Given the description of an element on the screen output the (x, y) to click on. 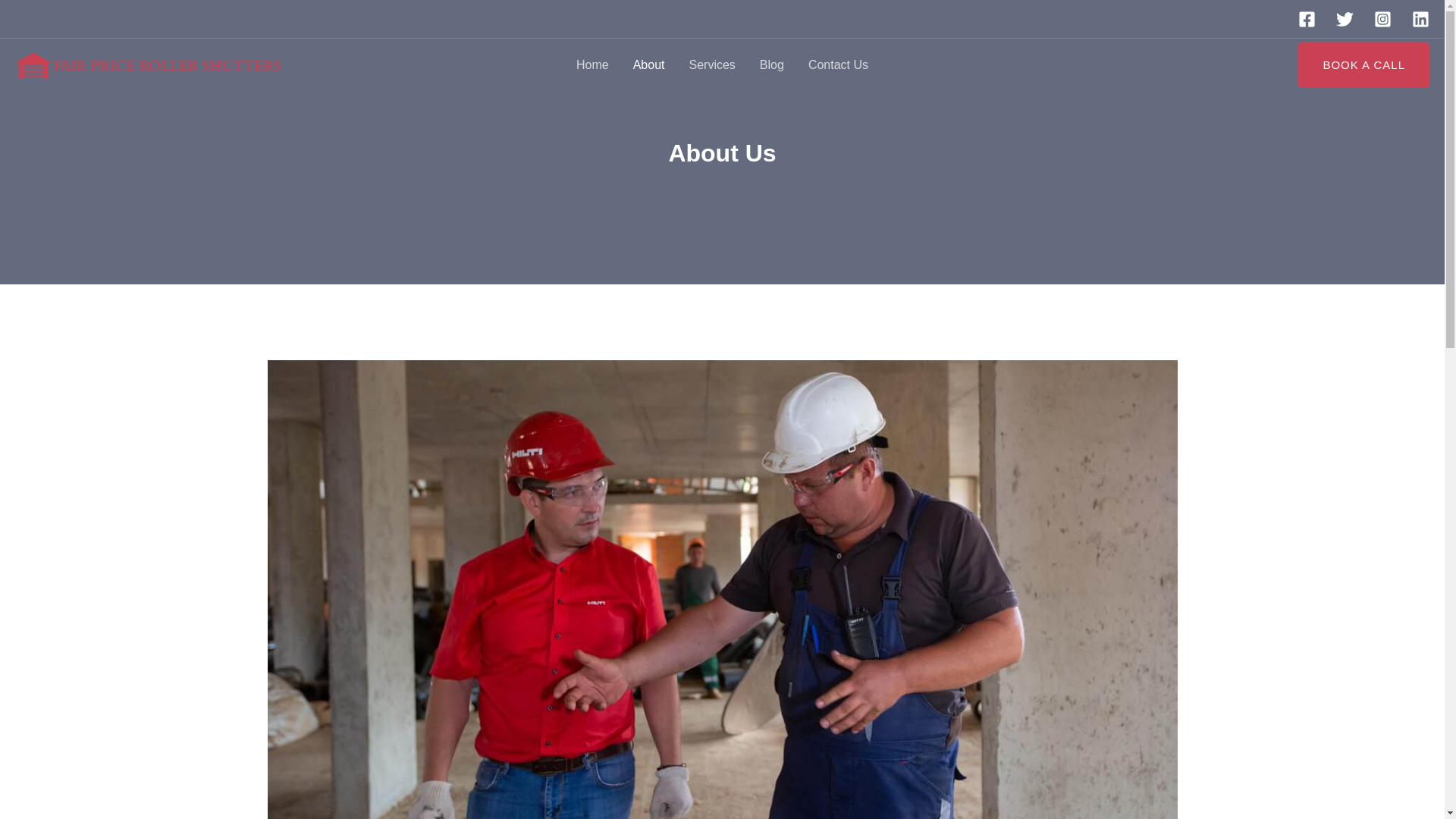
BOOK A CALL (1363, 64)
Blog (772, 64)
Home (592, 64)
Services (711, 64)
Contact Us (838, 64)
About (649, 64)
